Given the description of an element on the screen output the (x, y) to click on. 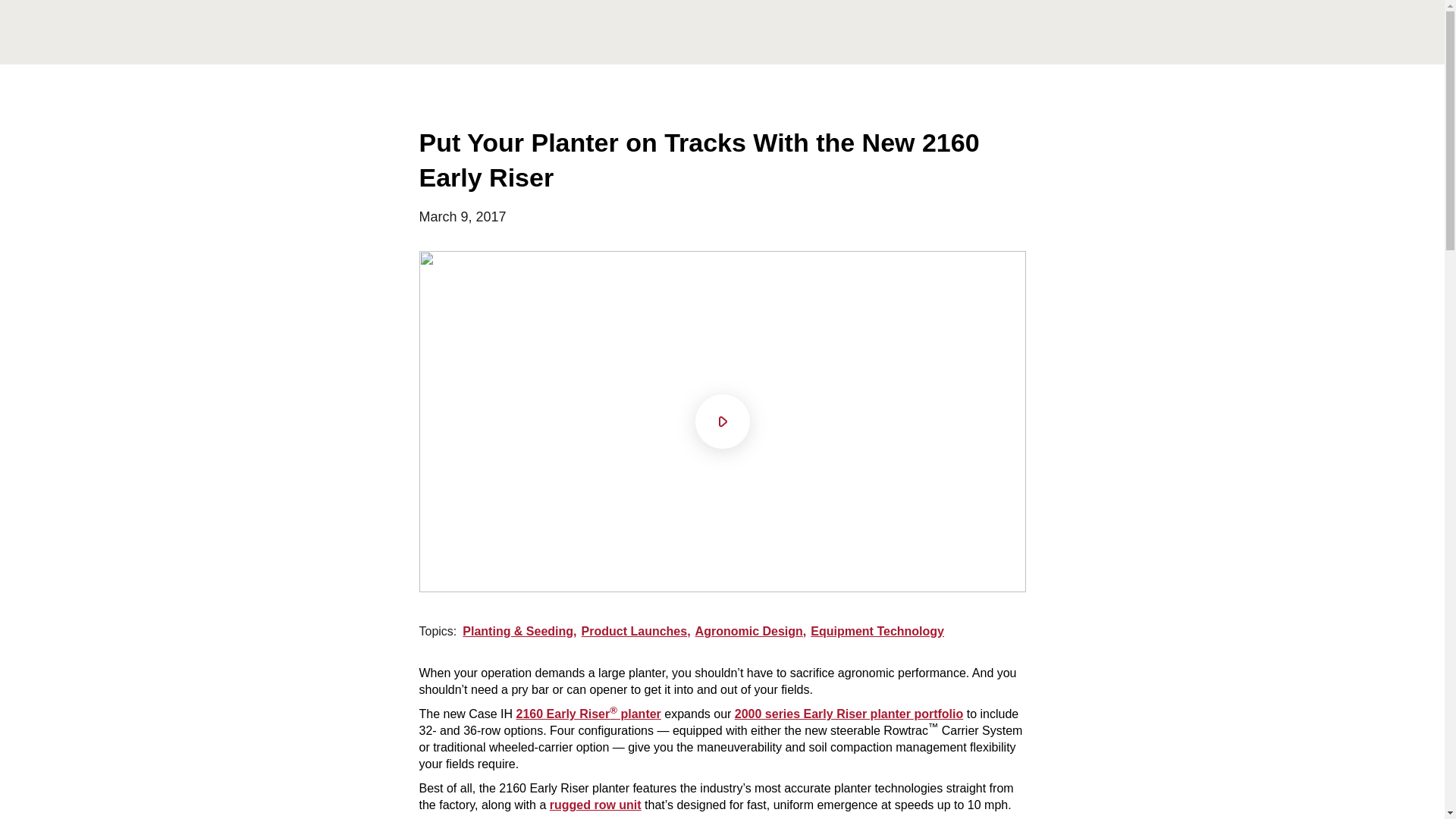
Agronomic Design (752, 631)
Product Launches (637, 631)
2000 series Early Riser planter portfolio (848, 713)
Equipment Technology (876, 631)
rugged row unit (596, 804)
